Given the description of an element on the screen output the (x, y) to click on. 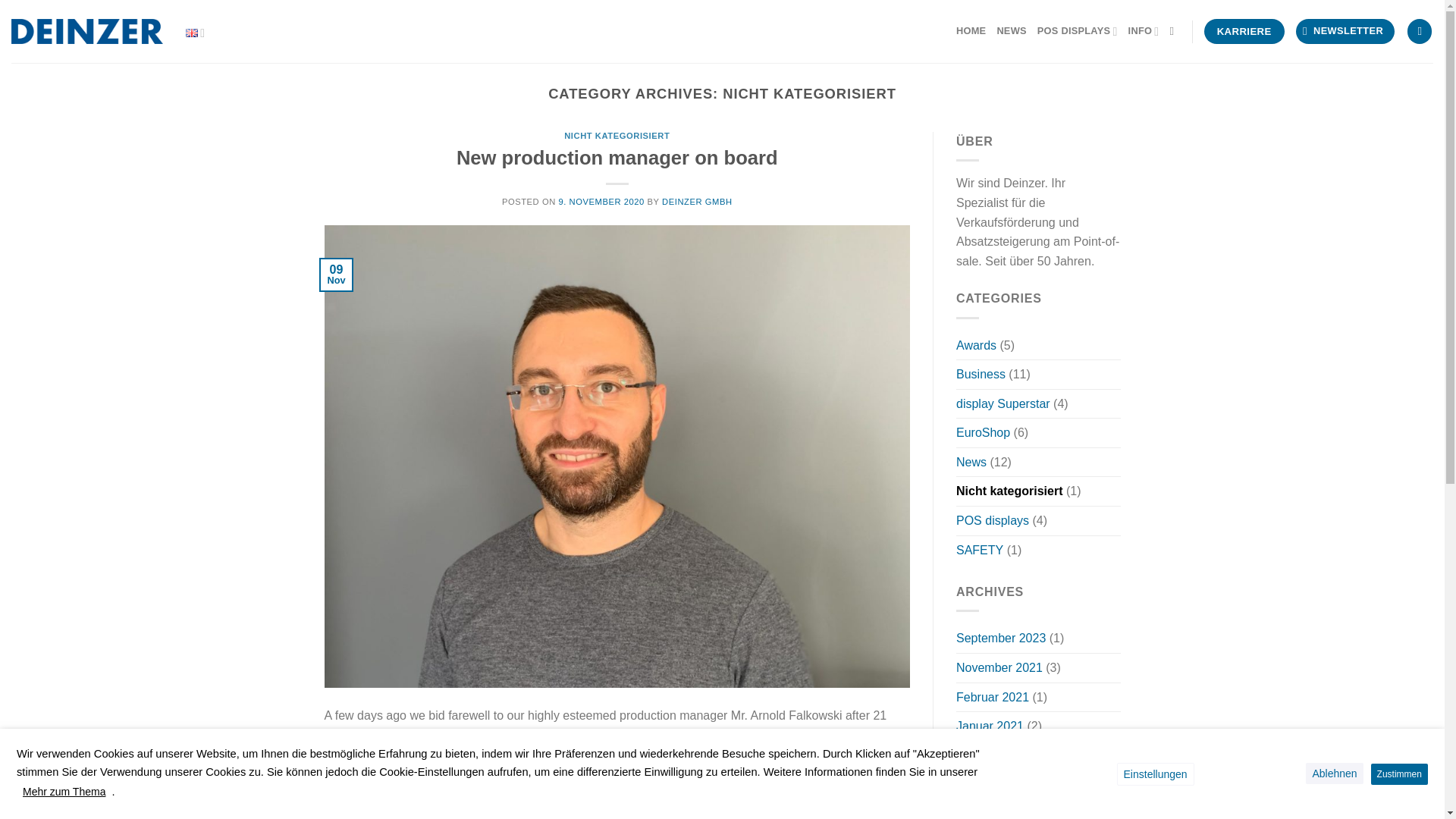
Login (1419, 31)
POS-NEWS direkt in Ihr Postfach! (1344, 31)
INFO (1143, 30)
POS DISPLAYS (1077, 30)
HOME (970, 30)
NEWS (1010, 30)
